Given the description of an element on the screen output the (x, y) to click on. 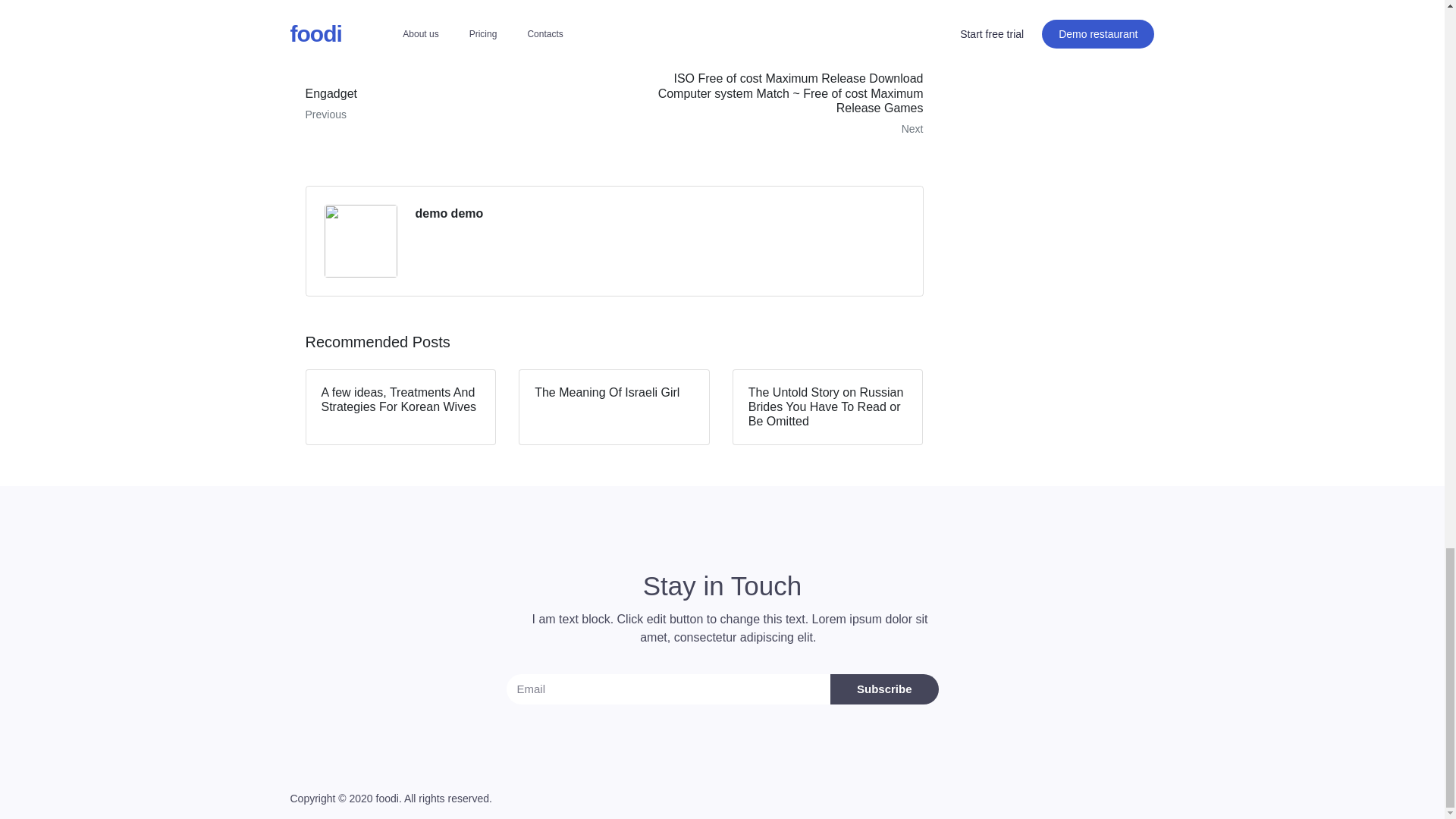
Twitter (440, 7)
The Meaning Of Israeli Girl (614, 407)
Subscribe (884, 689)
LinkedIn (454, 104)
demo demo (526, 7)
A few ideas, Treatments And Strategies For Korean Wives (448, 213)
Facebook (400, 407)
Engadget (350, 7)
